Given the description of an element on the screen output the (x, y) to click on. 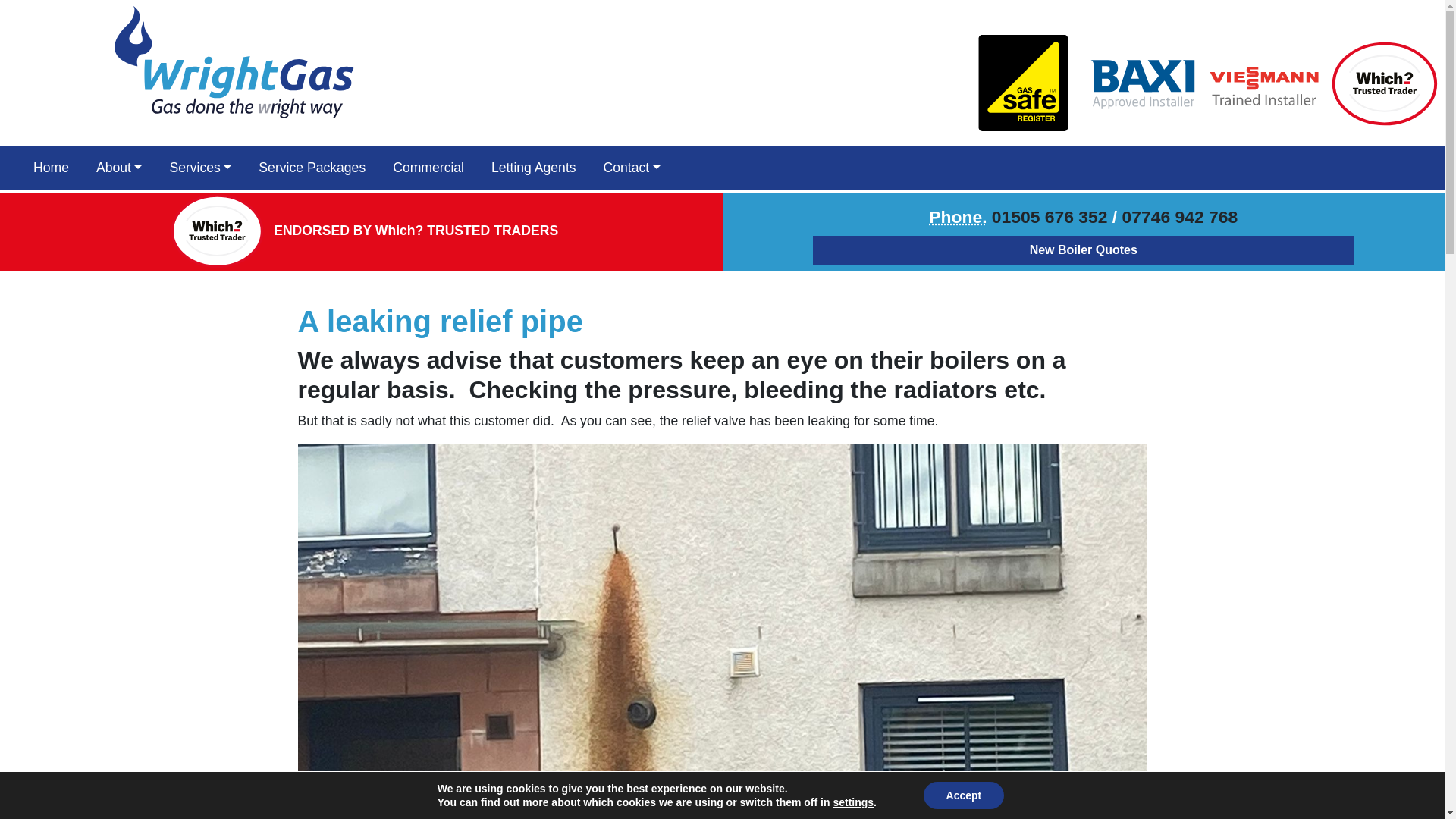
Services (200, 167)
Phone (957, 216)
07746 942 768 (1180, 216)
01505 676 352 (1049, 216)
New Boiler Quotes (1083, 249)
About (119, 167)
Service Packages (311, 167)
Home (51, 167)
Letting Agents (533, 167)
Contact (631, 167)
